Given the description of an element on the screen output the (x, y) to click on. 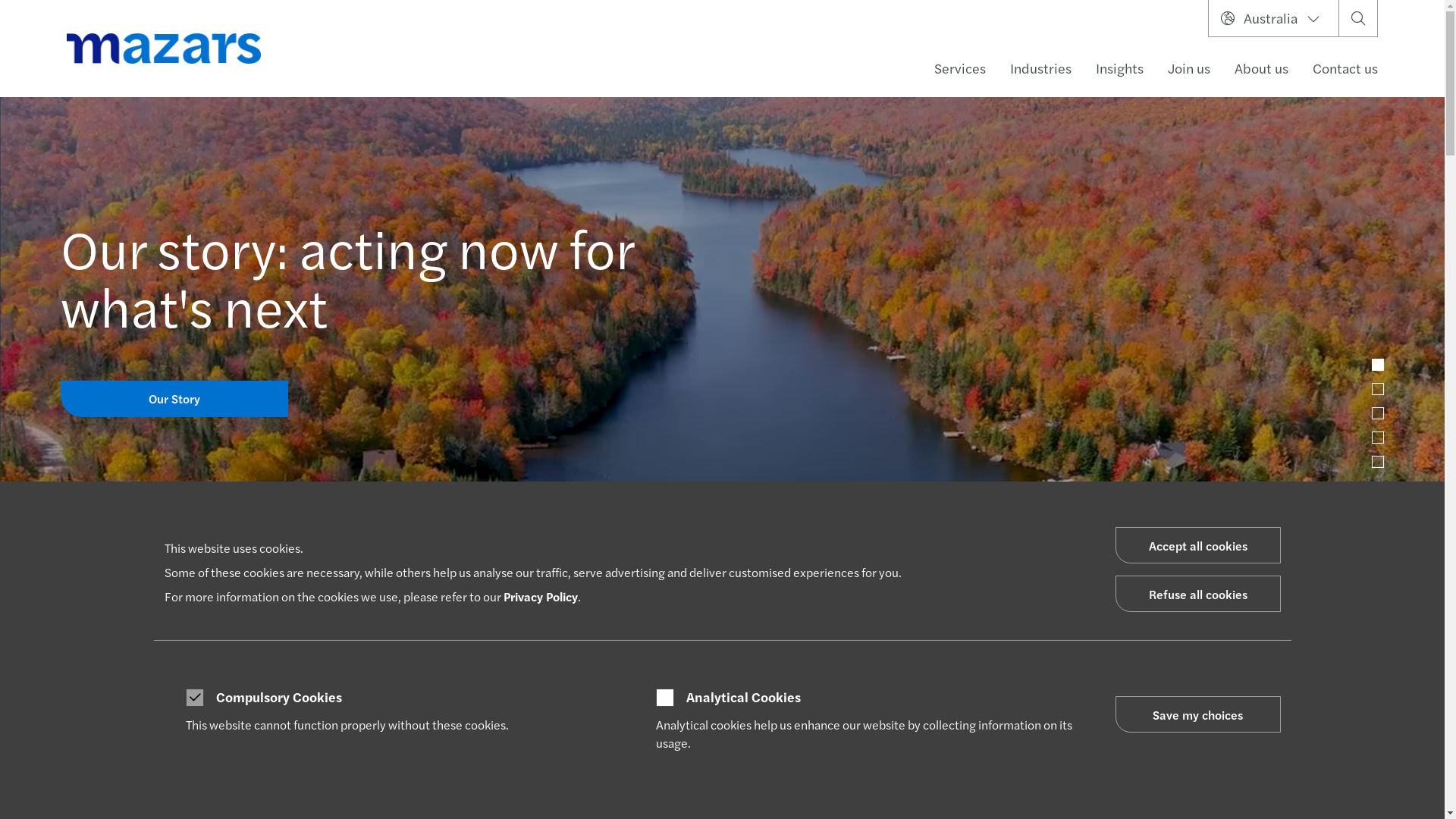
Our story: acting now for what's next Element type: text (346, 276)
Our story: acting now for what's next Element type: text (195, 647)
3 Element type: text (1377, 413)
4 Element type: text (1377, 437)
Privacy Policy Element type: text (540, 596)
Industries Element type: text (1040, 68)
Accept all cookies Element type: text (1197, 545)
Save my choices Element type: text (1197, 714)
Services Element type: text (959, 68)
Join us Element type: text (1188, 68)
Insights Element type: text (1119, 68)
Why global compliance is on the business agenda Element type: text (858, 646)
Gen You, the next generation of auditors at Mazars Element type: text (527, 646)
5 Element type: text (1377, 461)
Refuse all cookies Element type: text (1197, 593)
Australia Element type: text (1273, 18)
Our Story Element type: text (174, 398)
2 Element type: text (1377, 388)
1 Element type: text (1377, 364)
